Given the description of an element on the screen output the (x, y) to click on. 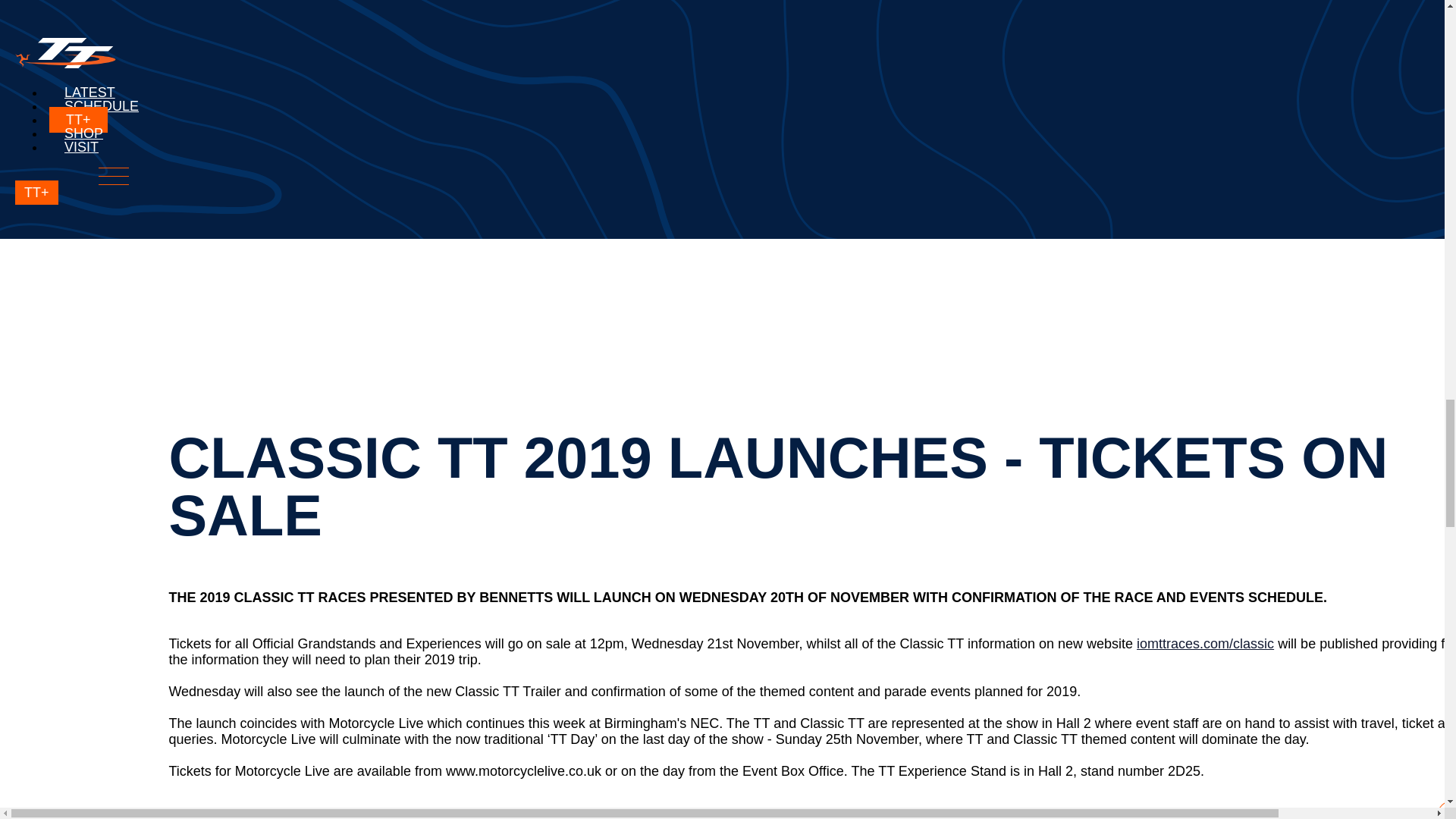
Isle of Man Classic TT (1205, 643)
